Given the description of an element on the screen output the (x, y) to click on. 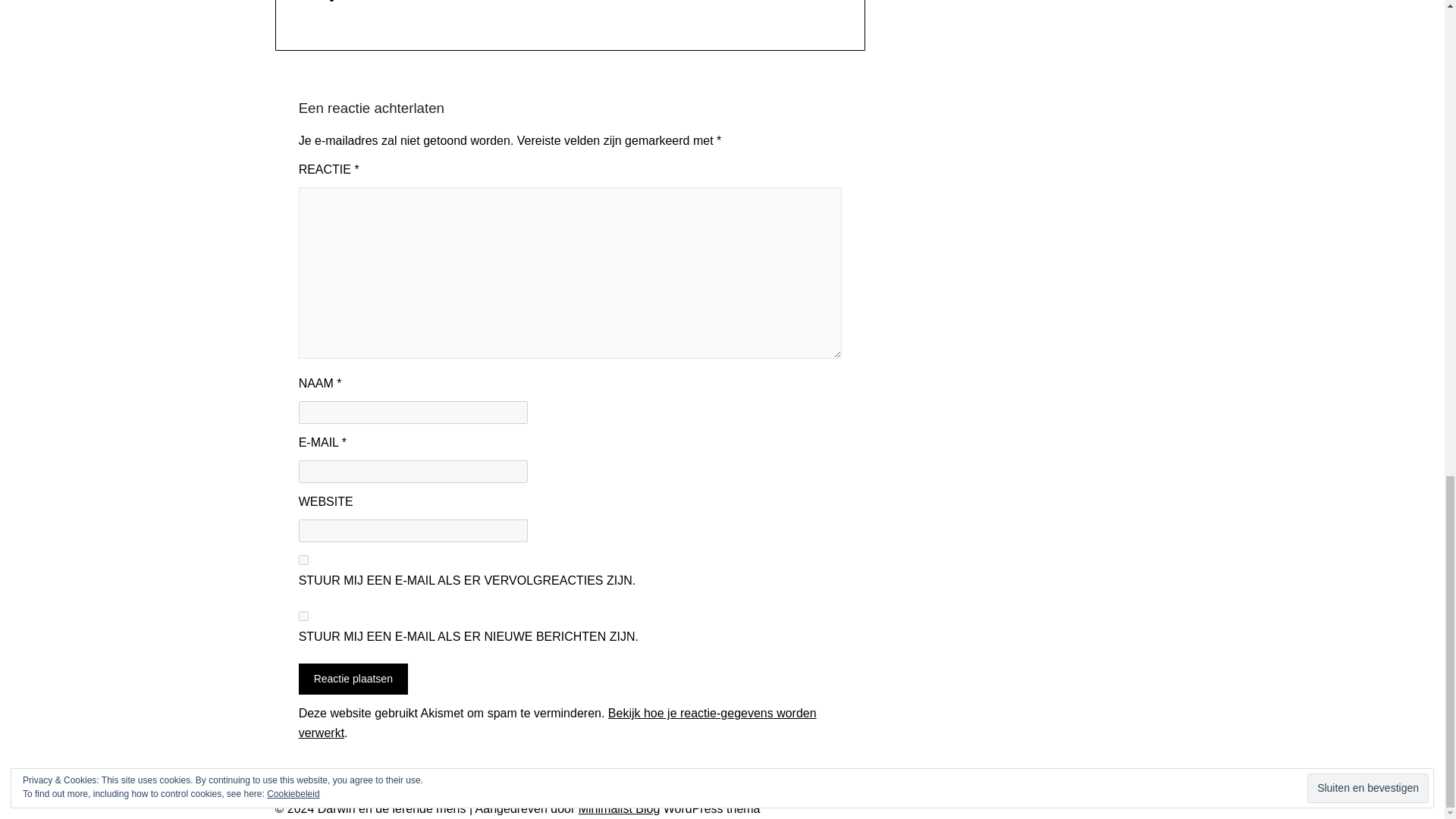
subscribe (303, 560)
Bekijk hoe je reactie-gegevens worden verwerkt (557, 722)
Minimalist Blog (619, 808)
Reactie plaatsen (352, 678)
Reactie plaatsen (352, 678)
subscribe (303, 615)
